Given the description of an element on the screen output the (x, y) to click on. 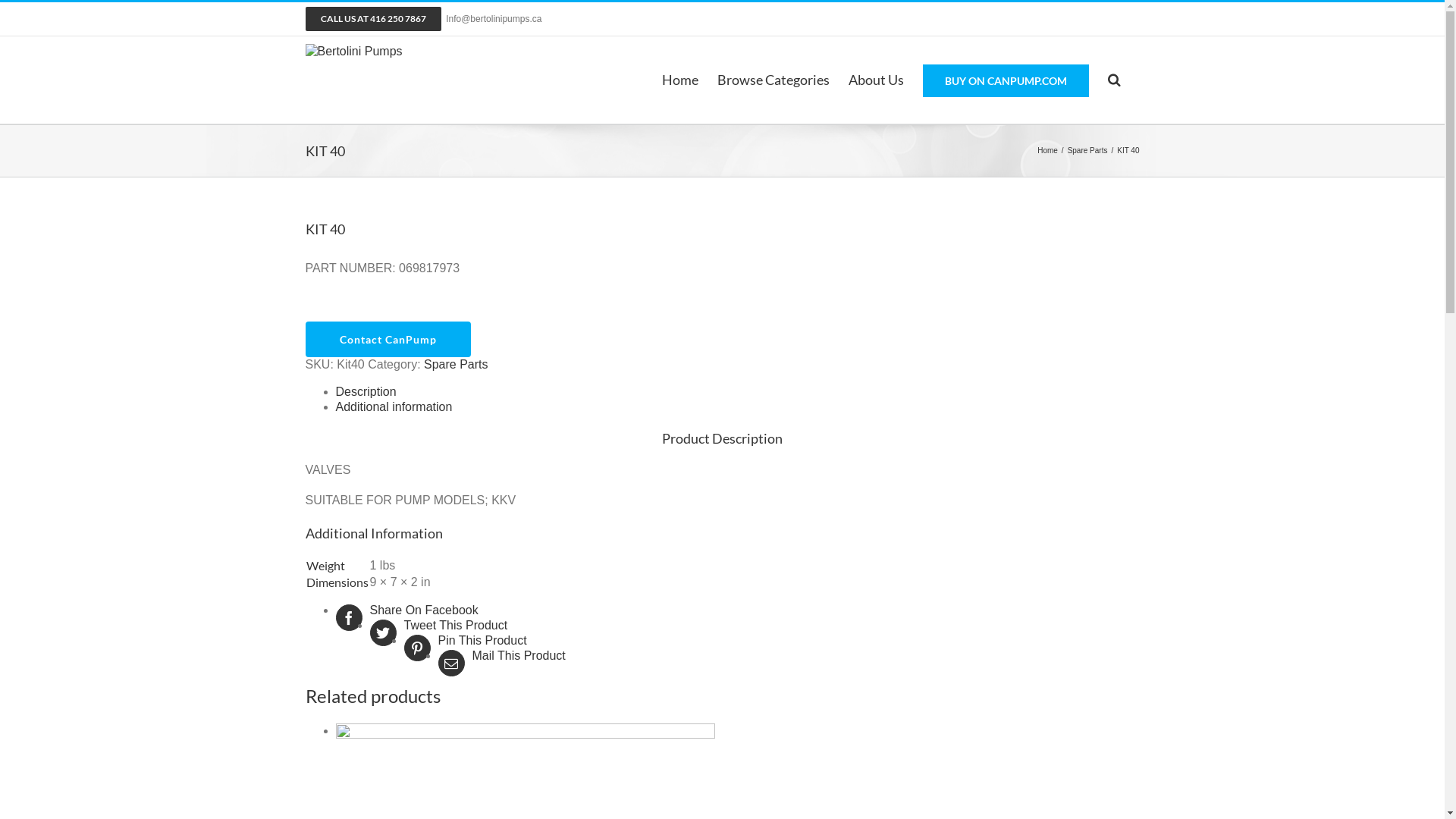
Home Element type: text (1047, 150)
Home Element type: text (679, 79)
About Us Element type: text (875, 79)
CALL US AT 416 250 7867 Element type: text (372, 18)
Additional information Element type: text (393, 406)
Spare Parts Element type: text (455, 363)
Contact CanPump Element type: text (387, 339)
Description Element type: text (365, 391)
Info@bertolinipumps.ca Element type: text (493, 18)
BUY ON CANPUMP.COM Element type: text (1005, 79)
Tweet This Product Element type: text (737, 625)
Browse Categories Element type: text (773, 79)
Mail This Product Element type: text (737, 655)
Spare Parts Element type: text (1087, 150)
Share On Facebook Element type: text (737, 610)
Pin This Product Element type: text (737, 640)
